Given the description of an element on the screen output the (x, y) to click on. 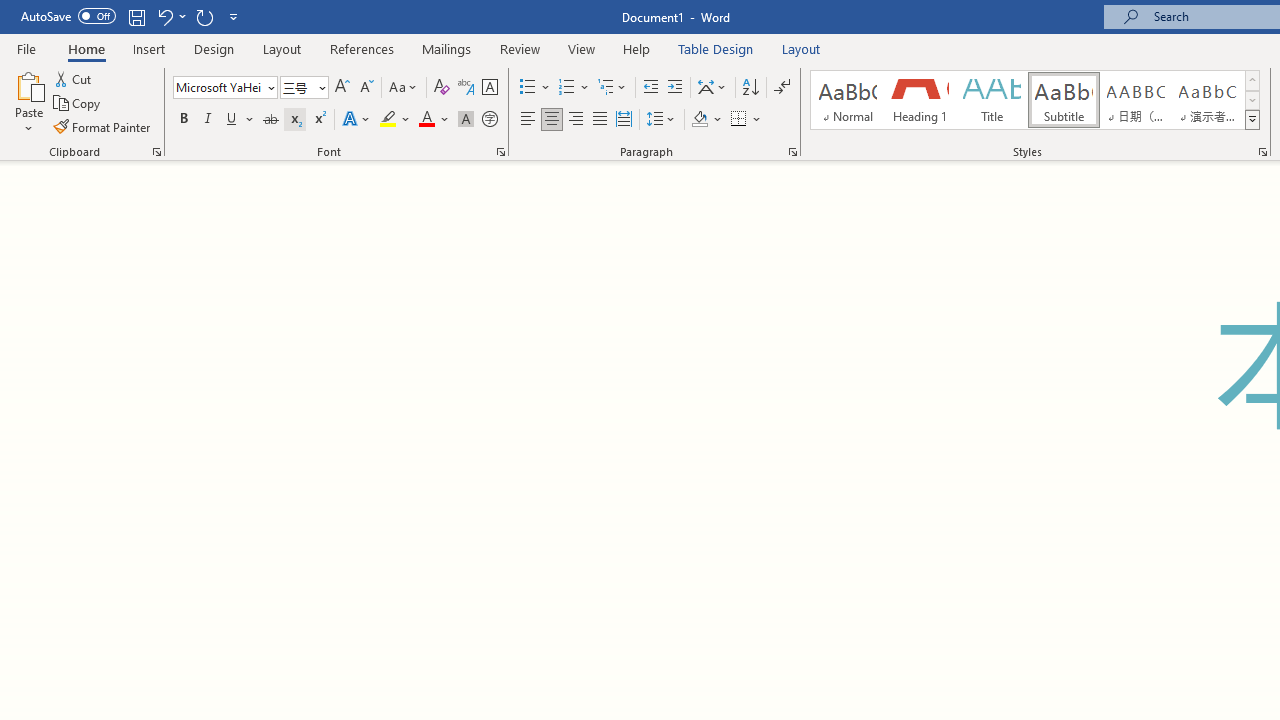
Repeat Subscript (204, 15)
